Given the description of an element on the screen output the (x, y) to click on. 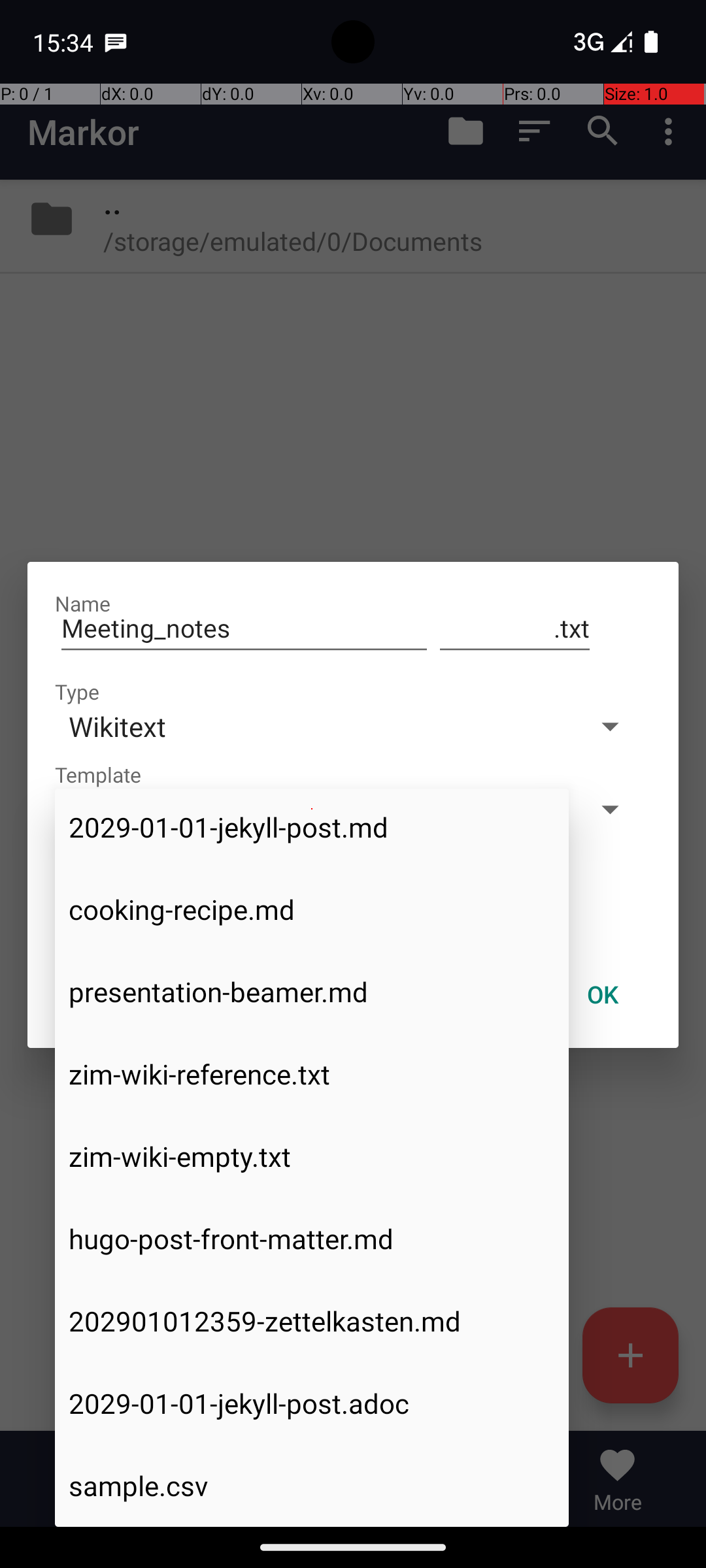
2029-01-01-jekyll-post.md Element type: android.widget.CheckedTextView (311, 828)
cooking-recipe.md Element type: android.widget.CheckedTextView (311, 909)
presentation-beamer.md Element type: android.widget.CheckedTextView (311, 991)
zim-wiki-reference.txt Element type: android.widget.CheckedTextView (311, 1073)
zim-wiki-empty.txt Element type: android.widget.CheckedTextView (311, 1156)
hugo-post-front-matter.md Element type: android.widget.CheckedTextView (311, 1238)
202901012359-zettelkasten.md Element type: android.widget.CheckedTextView (311, 1320)
2029-01-01-jekyll-post.adoc Element type: android.widget.CheckedTextView (311, 1403)
sample.csv Element type: android.widget.CheckedTextView (311, 1485)
